Given the description of an element on the screen output the (x, y) to click on. 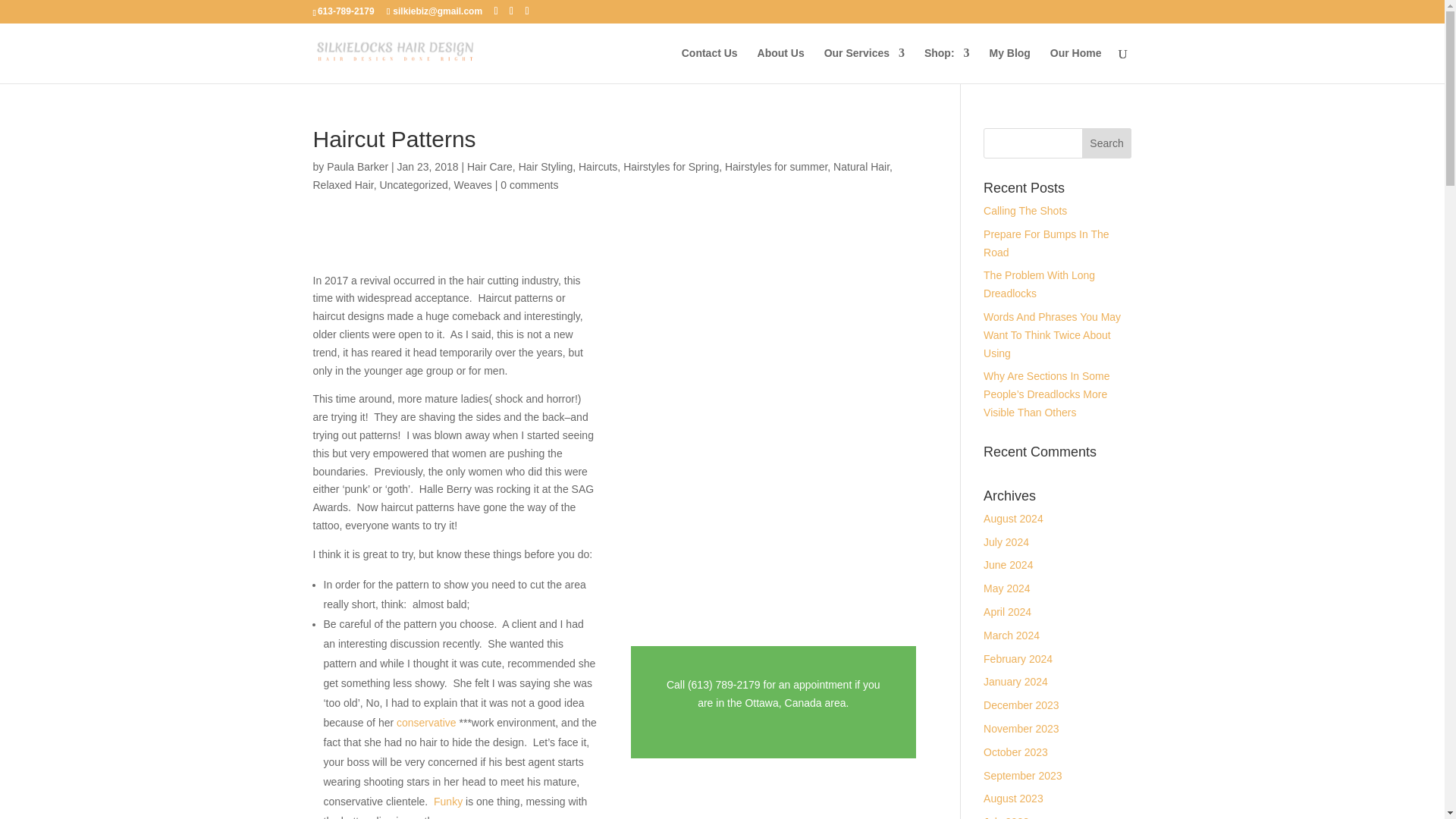
Search (1106, 142)
Contact Us (709, 65)
My Blog (1008, 65)
Natural Hair (860, 166)
Posts by Paula Barker (357, 166)
Our Services (864, 65)
Relaxed Hair (342, 184)
Words And Phrases You May Want To Think Twice About Using (1052, 335)
Funky (448, 801)
Hair Styling (545, 166)
